Given the description of an element on the screen output the (x, y) to click on. 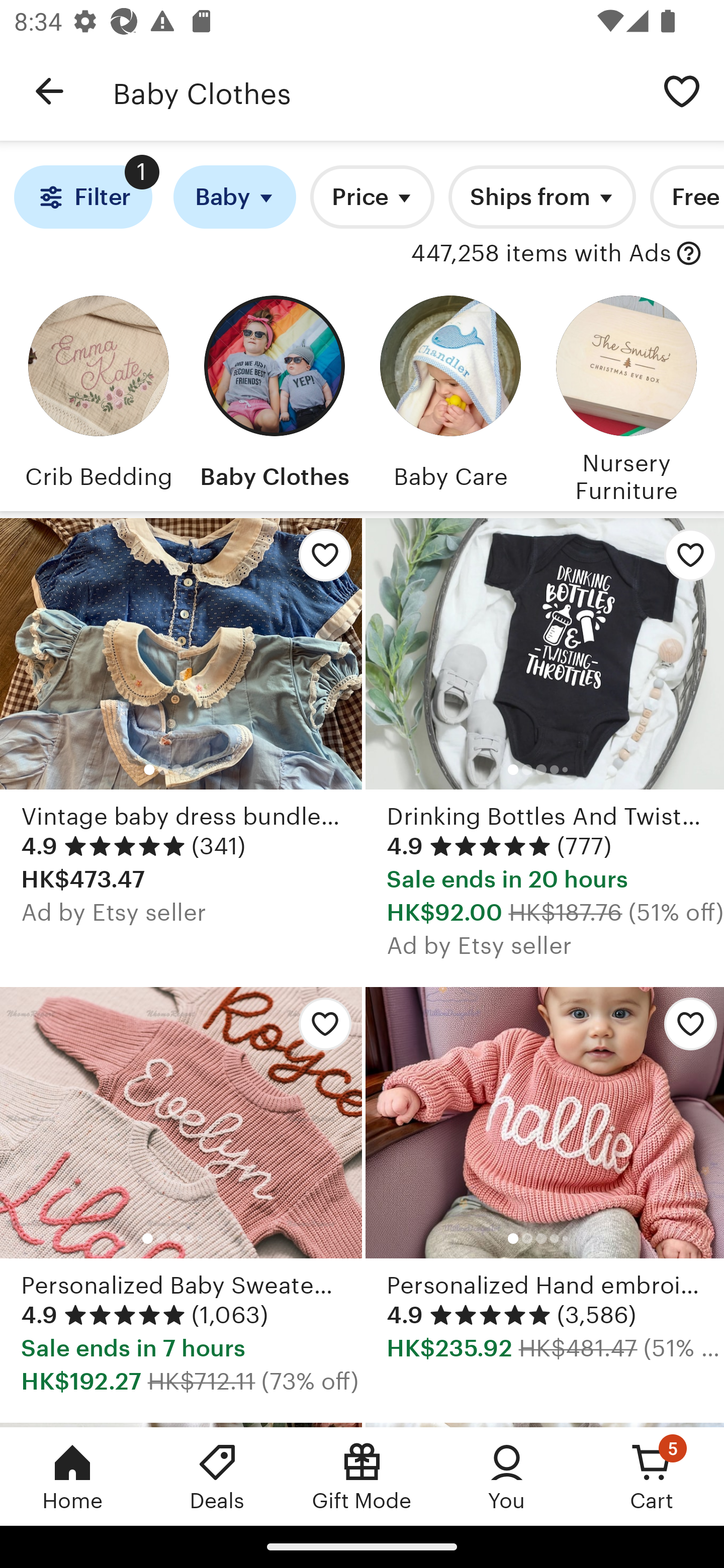
Navigate up (49, 91)
Save search (681, 90)
Baby Clothes (375, 91)
Filter (82, 197)
Baby (234, 197)
Price (371, 197)
Ships from (541, 197)
447,258 items with Ads (540, 253)
with Ads (688, 253)
Crib Bedding (97, 395)
Baby Clothes (273, 395)
Baby Care (449, 395)
Nursery Furniture (625, 395)
Deals (216, 1475)
Gift Mode (361, 1475)
You (506, 1475)
Cart, 5 new notifications Cart (651, 1475)
